Given the description of an element on the screen output the (x, y) to click on. 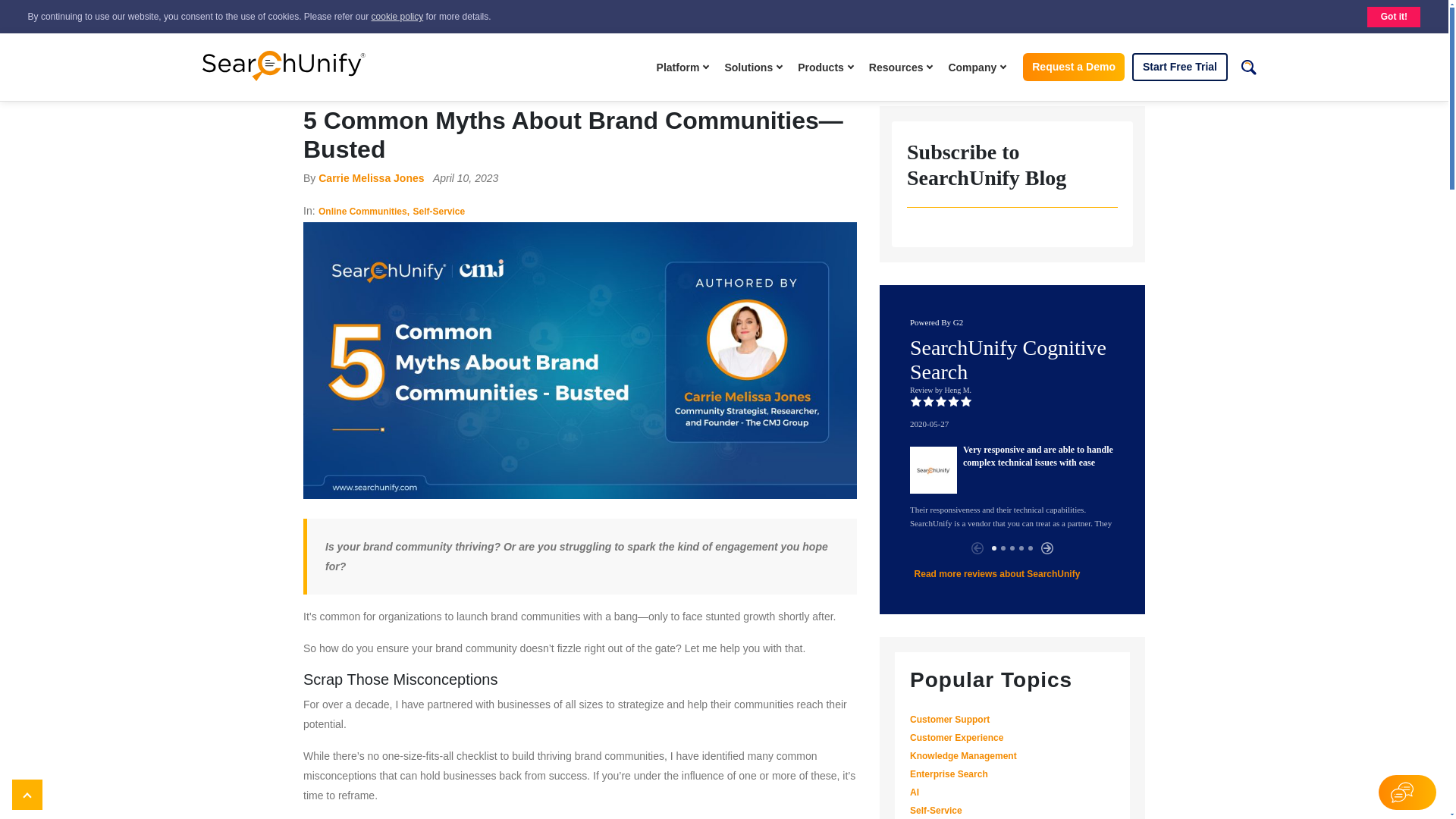
Platform (684, 67)
Solutions (754, 67)
cookie policy (397, 16)
Got it! (1394, 16)
